Given the description of an element on the screen output the (x, y) to click on. 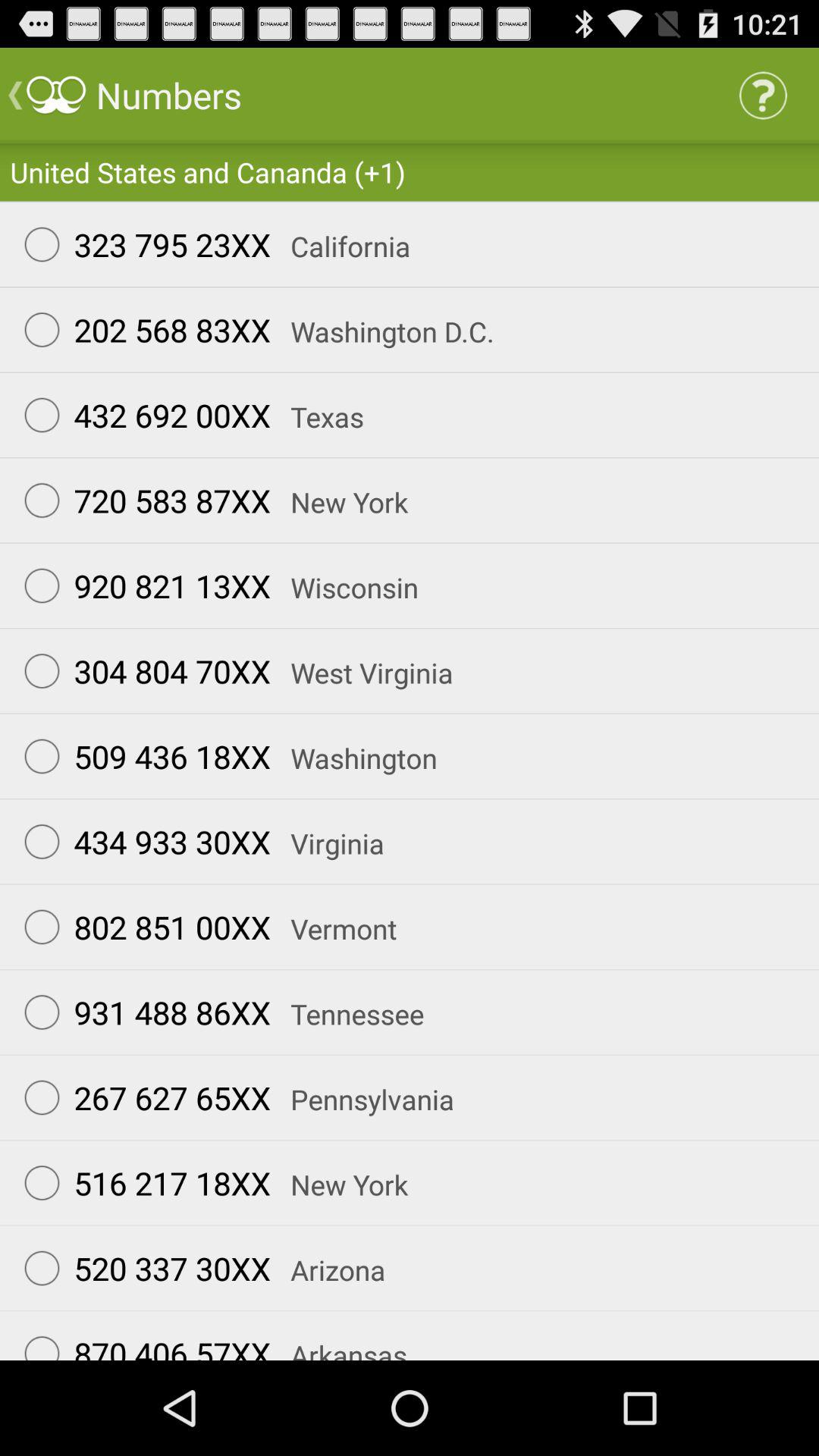
tap app next to the arkansas (140, 1340)
